Given the description of an element on the screen output the (x, y) to click on. 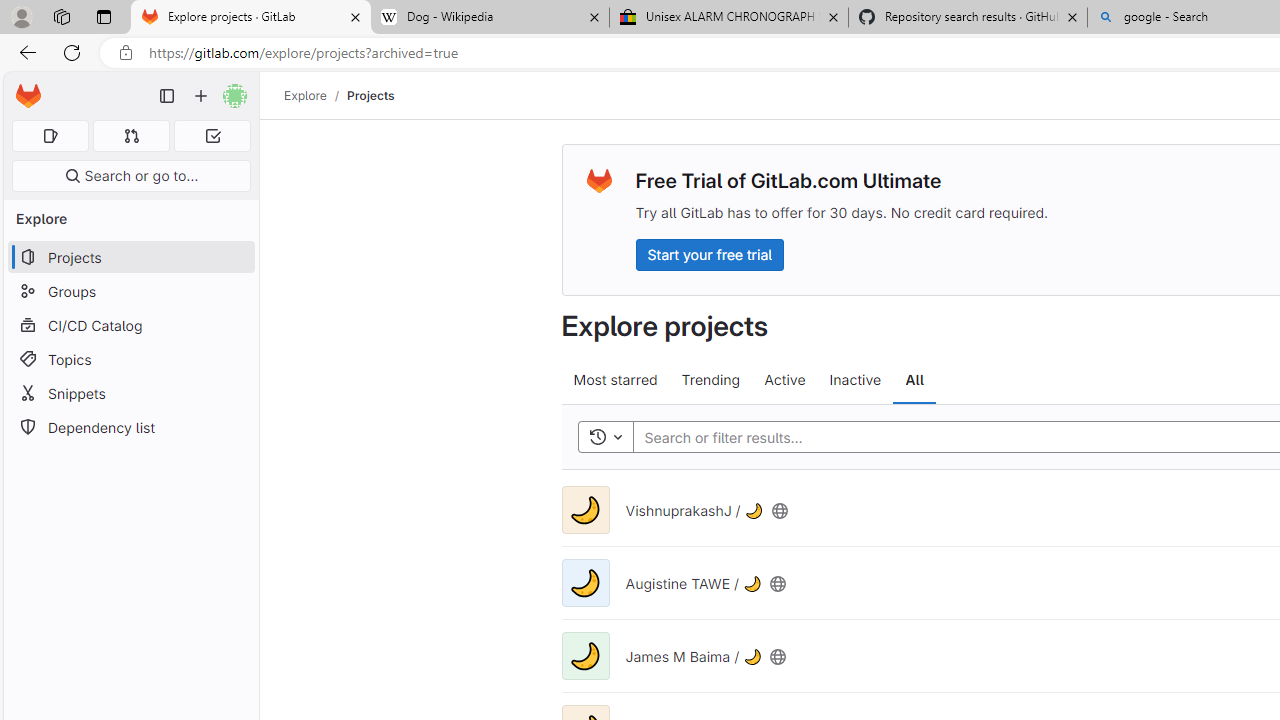
Trending (710, 379)
To-Do list 0 (212, 136)
Most starred (614, 379)
CI/CD Catalog (130, 325)
Toggle history (605, 437)
Projects (370, 95)
Dependency list (130, 427)
Active (784, 379)
Class: s16 (778, 656)
